Given the description of an element on the screen output the (x, y) to click on. 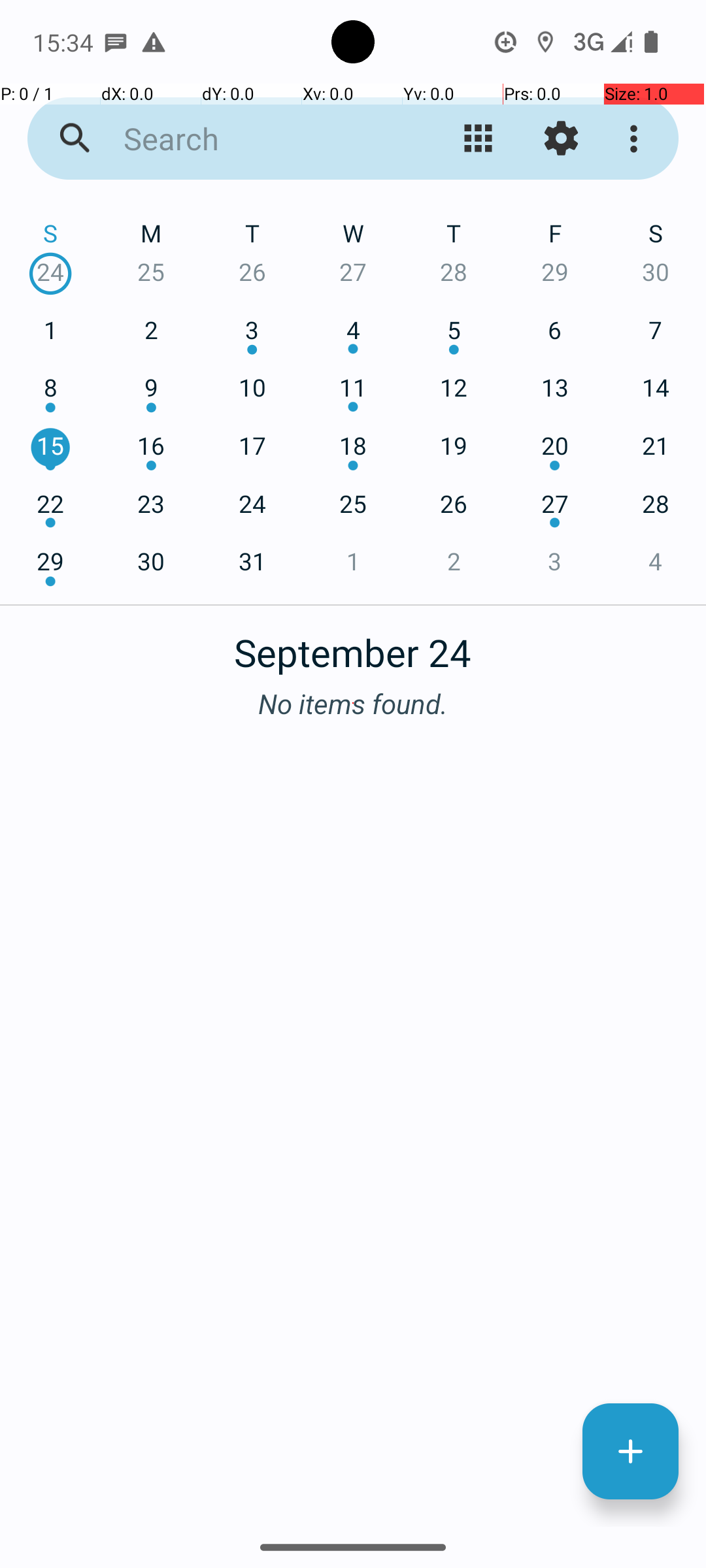
September 24 Element type: android.widget.TextView (352, 644)
